Given the description of an element on the screen output the (x, y) to click on. 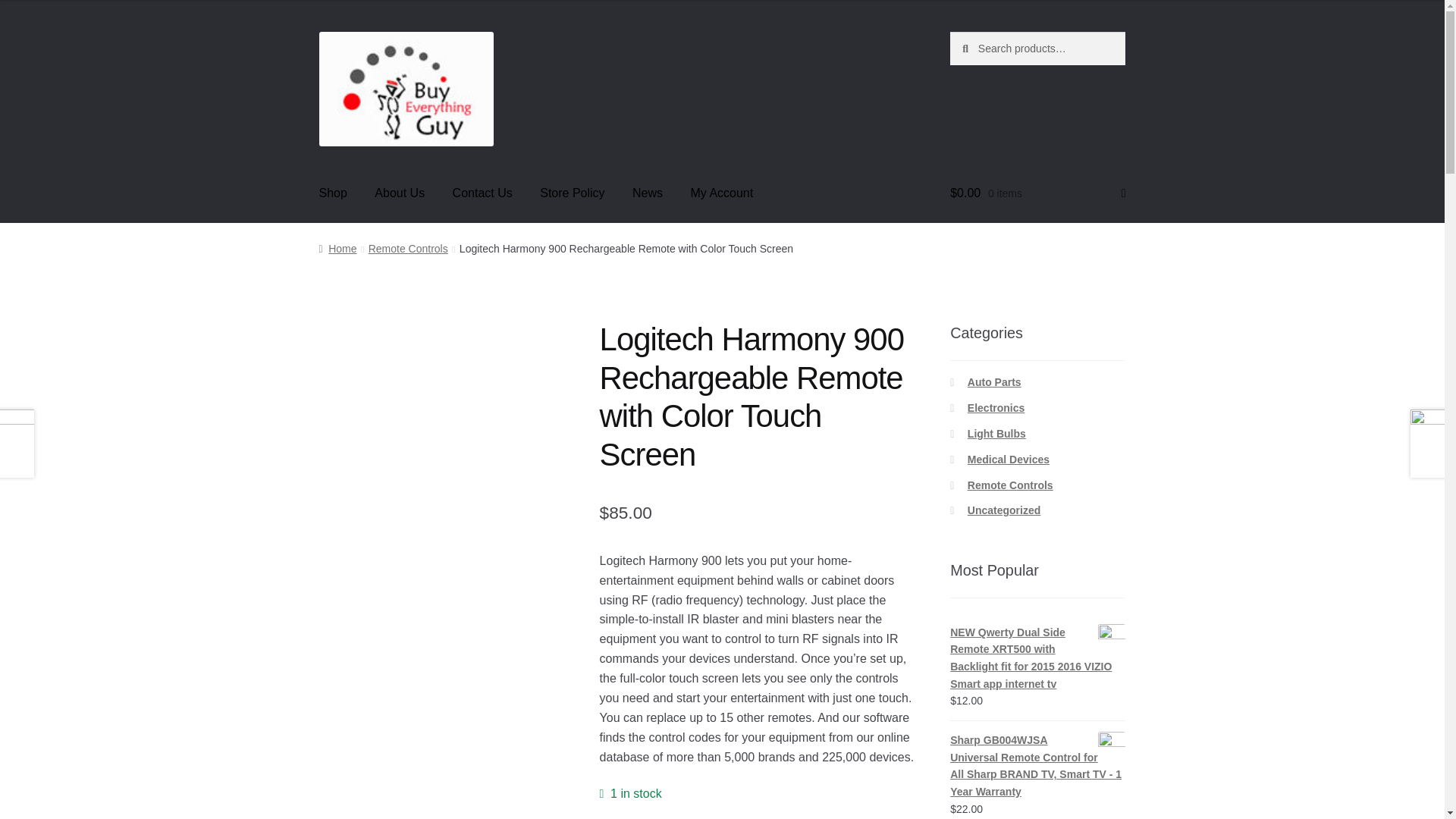
My Account (721, 192)
Contact Us (482, 192)
About Buy Everything Guy (399, 192)
News (647, 192)
About Us (399, 192)
Remote Controls (408, 248)
Home (337, 248)
Store Policy (571, 192)
